Given the description of an element on the screen output the (x, y) to click on. 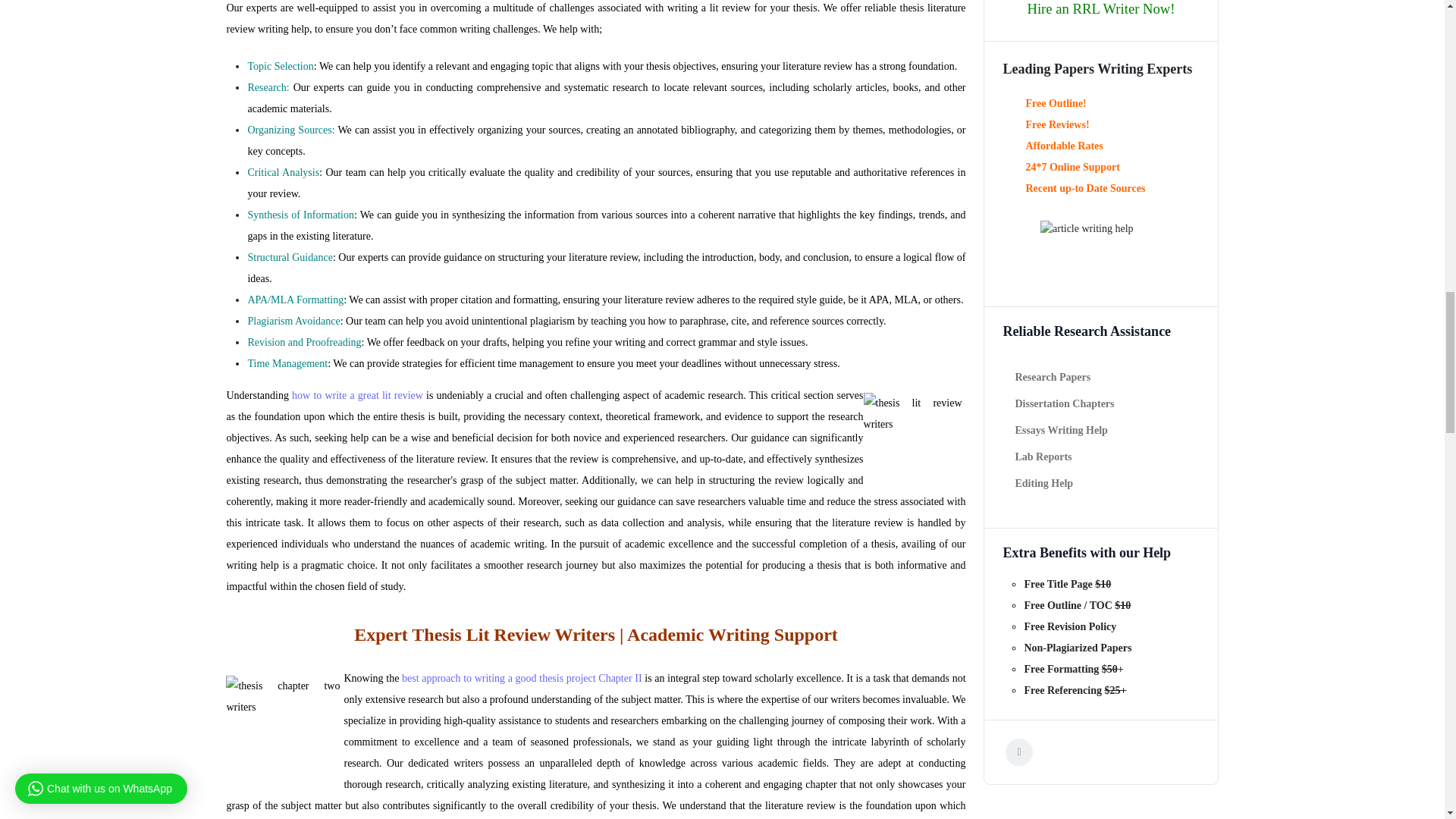
Facebook (1019, 751)
Hire an RRL Writer Now! (1100, 8)
Dissertation Chapters (1063, 404)
Research Papers (1063, 377)
how to write a great lit review (359, 395)
Editing Help (1063, 483)
Essays Writing Help (1063, 430)
best approach to writing a good thesis project Chapter II (521, 677)
Lab Reports (1063, 457)
